Given the description of an element on the screen output the (x, y) to click on. 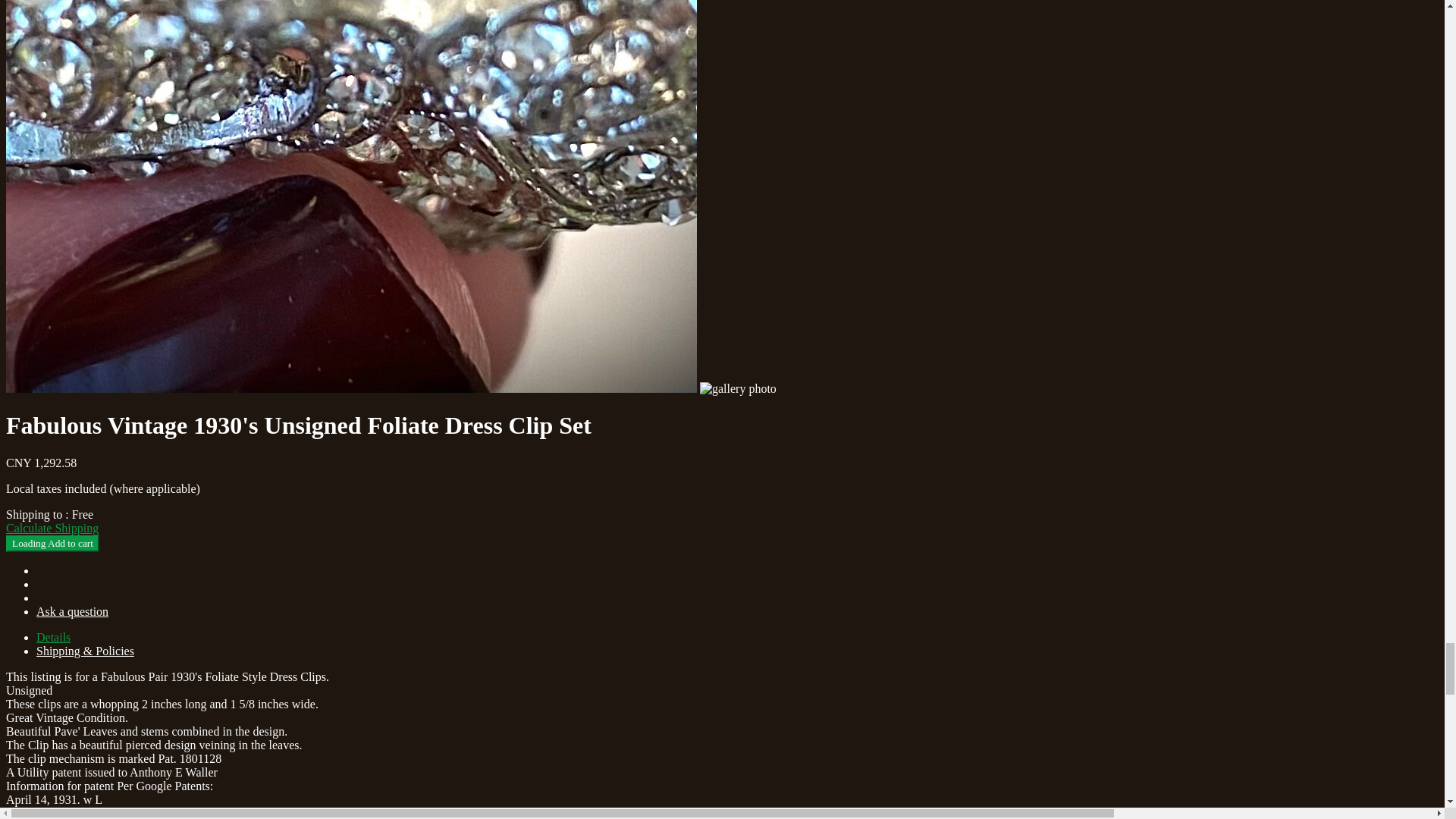
Details (52, 636)
Ask a question (71, 611)
Calculate Shipping (52, 527)
Loading Add to cart (52, 543)
